Given the description of an element on the screen output the (x, y) to click on. 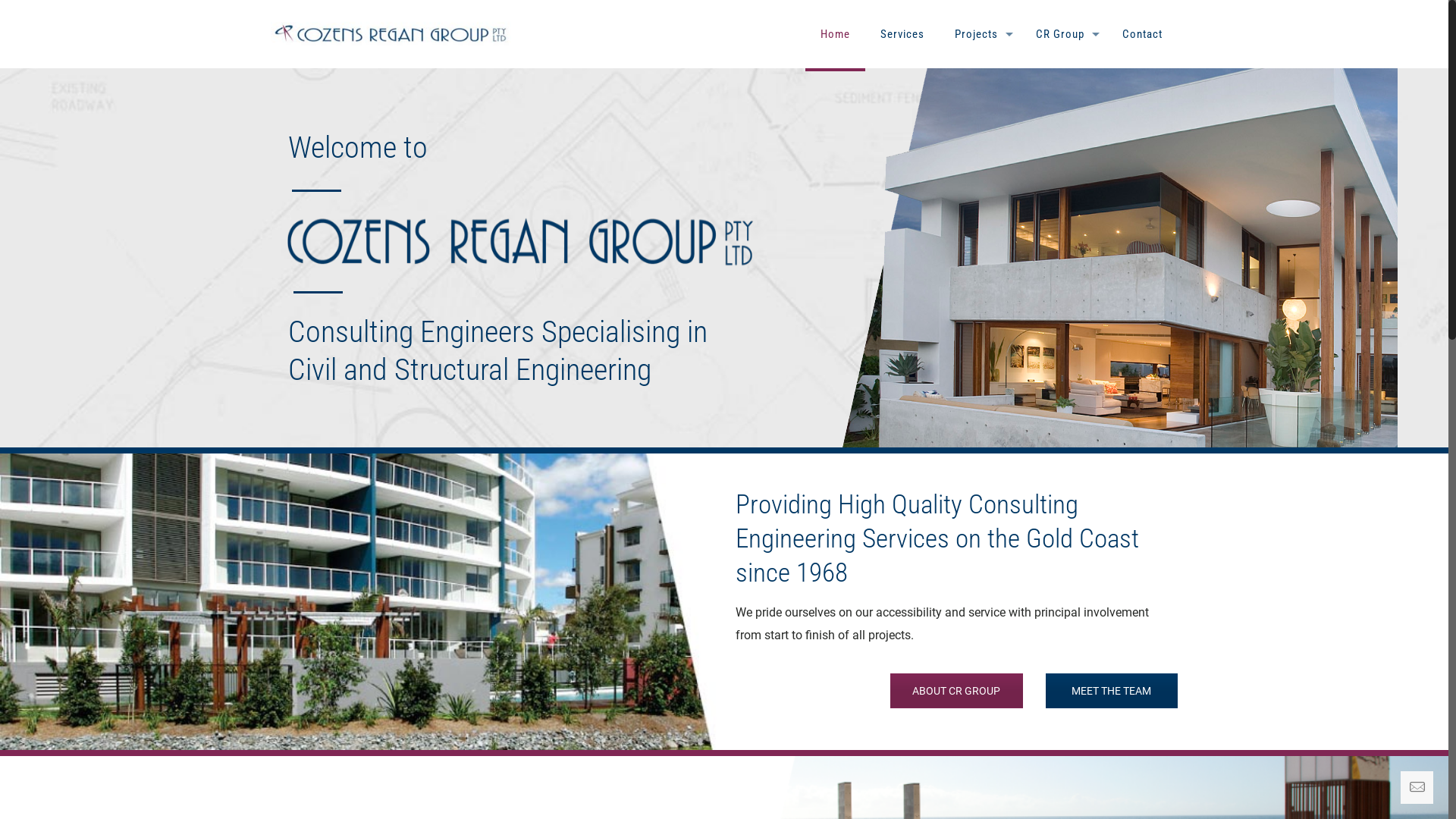
MEET THE TEAM Element type: text (1111, 690)
Projects Element type: text (979, 34)
Services Element type: text (902, 34)
Cozens Regan Group Element type: hover (390, 34)
Contact Element type: text (1142, 34)
ABOUT CR GROUP Element type: text (956, 690)
Home Element type: text (835, 34)
CR Group Element type: text (1063, 34)
